Given the description of an element on the screen output the (x, y) to click on. 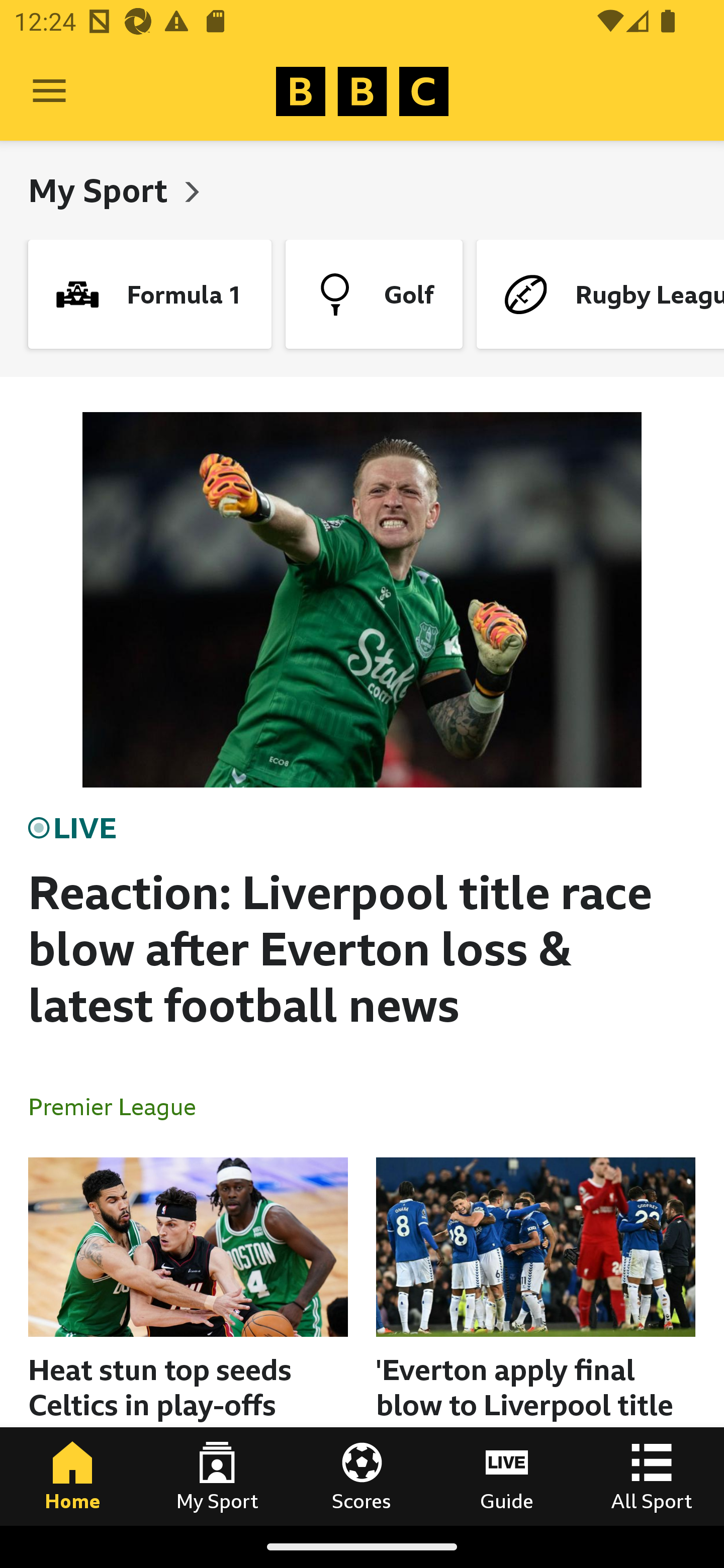
Open Menu (49, 91)
My Sport (101, 190)
Premier League In the section Premier League (119, 1106)
My Sport (216, 1475)
Scores (361, 1475)
Guide (506, 1475)
All Sport (651, 1475)
